Given the description of an element on the screen output the (x, y) to click on. 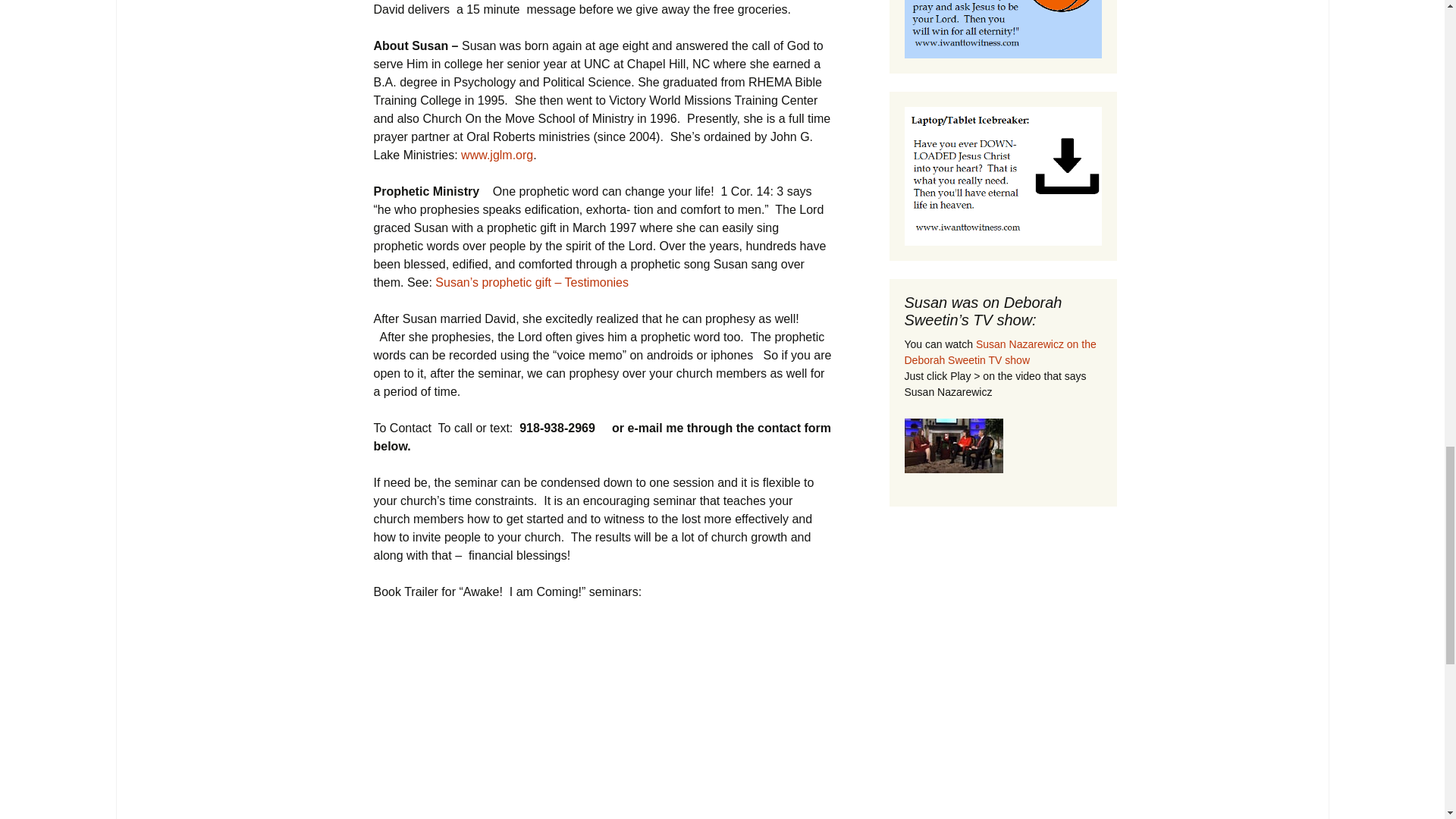
www.jglm.org (496, 154)
